Given the description of an element on the screen output the (x, y) to click on. 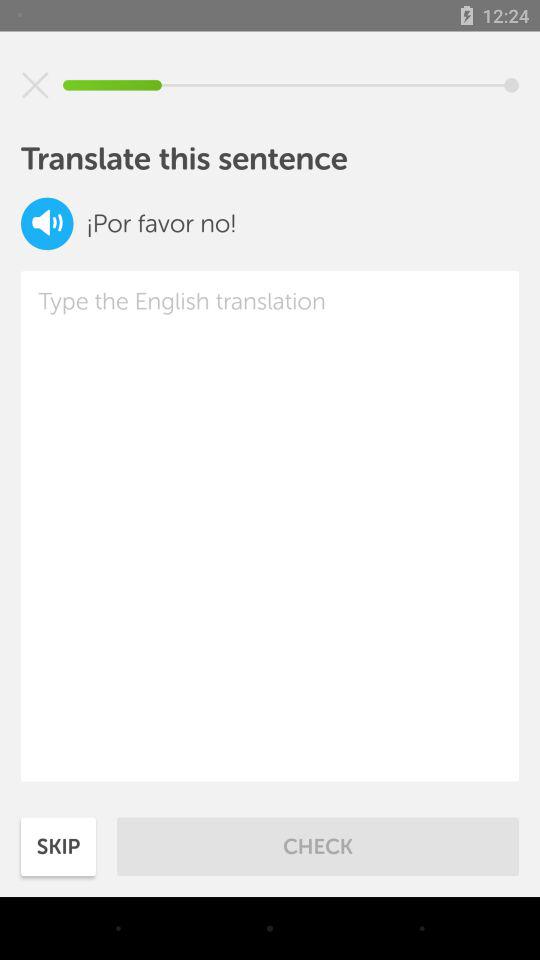
click the item above the translate this sentence (35, 85)
